Given the description of an element on the screen output the (x, y) to click on. 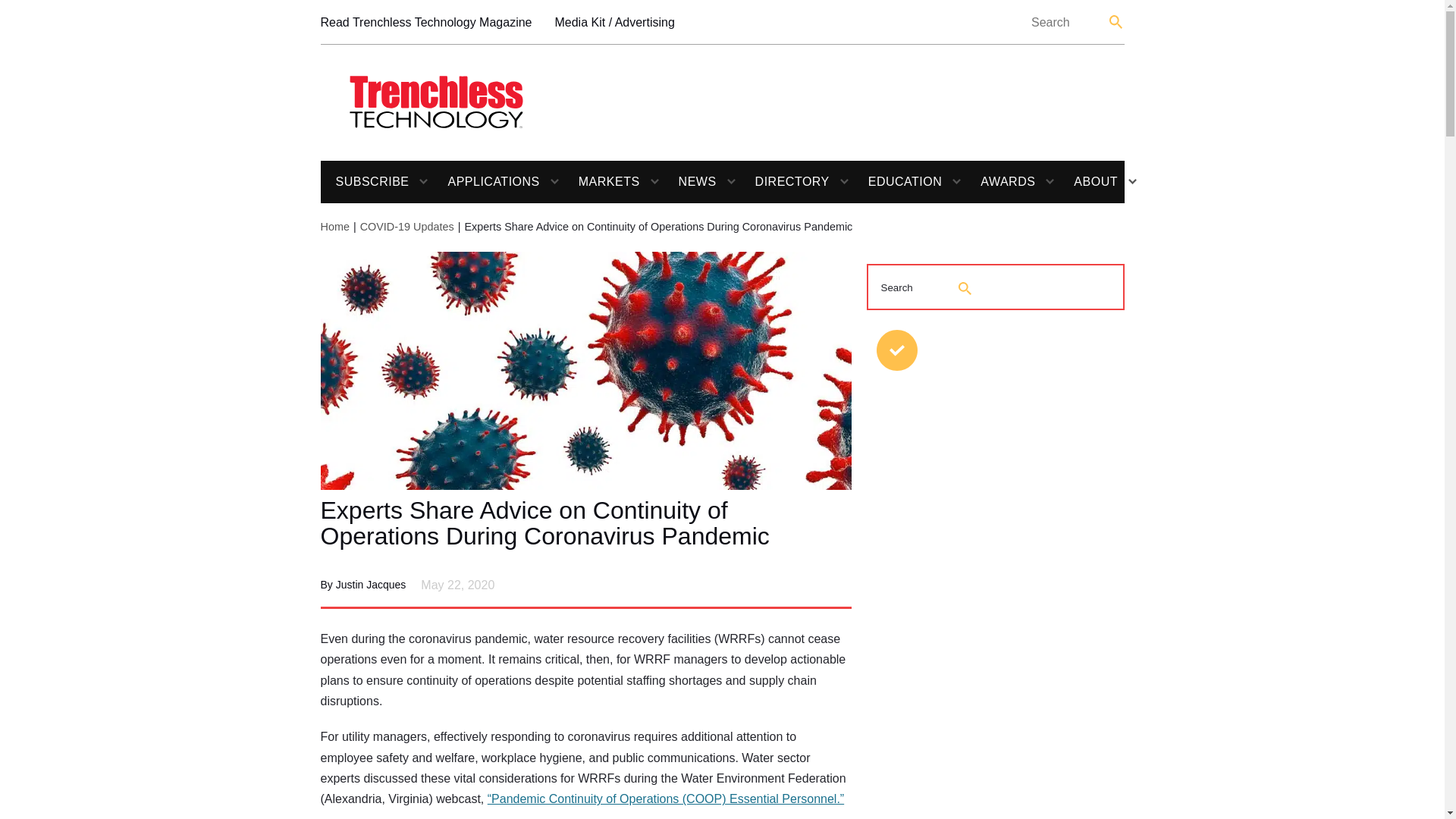
MARKETS (601, 181)
Go to the COVID-19 Updates category archives. (406, 226)
APPLICATIONS (485, 181)
Search (1116, 21)
NEWS (689, 181)
Go to Trenchless Technology. (334, 226)
SUBSCRIBE (364, 181)
Read Trenchless Technology Magazine (425, 22)
